Given the description of an element on the screen output the (x, y) to click on. 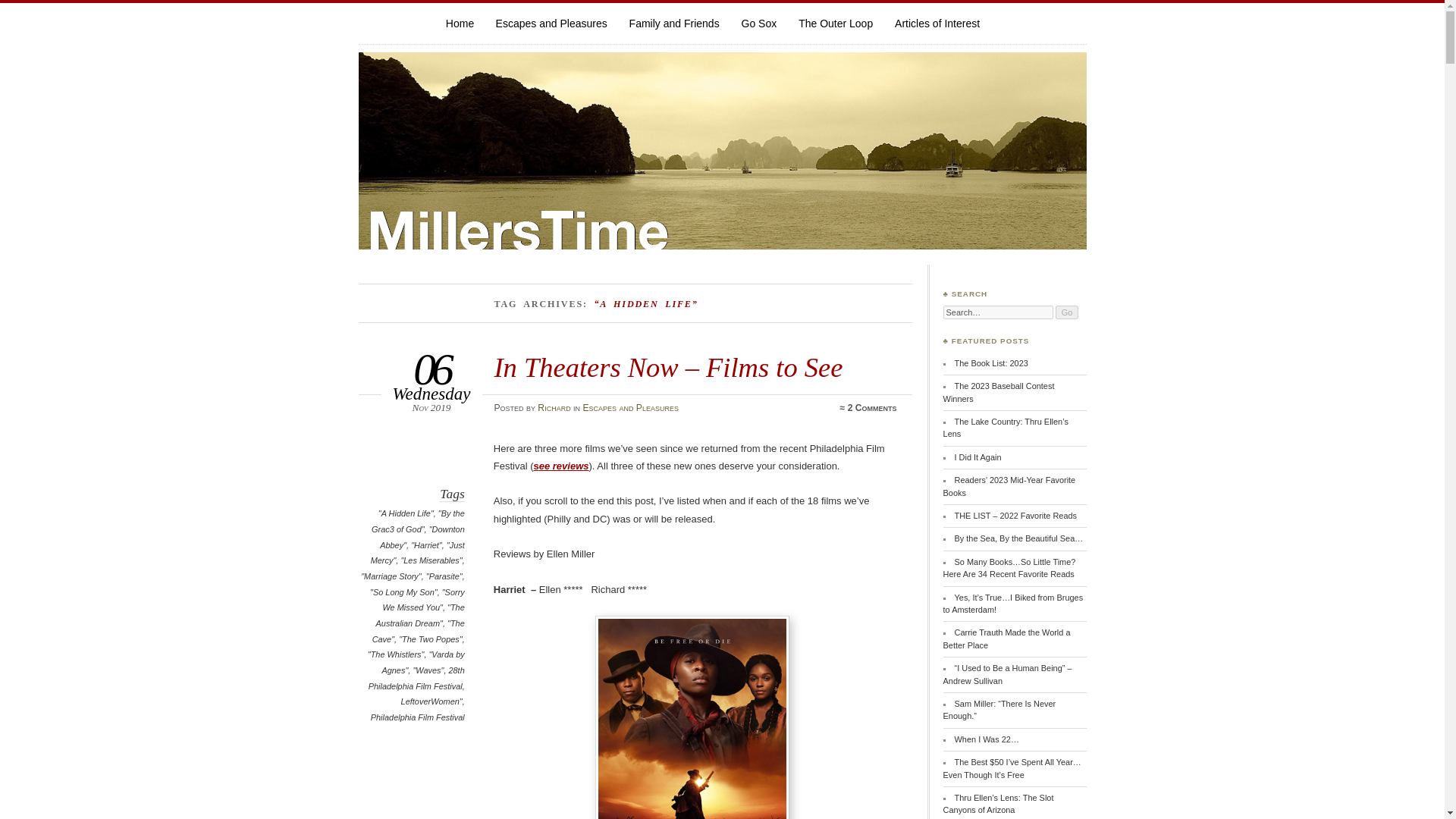
"The Cave" (418, 631)
"Parasite" (444, 575)
Articles of Interest (937, 23)
"Waves" (428, 669)
"Les Miserables" (430, 560)
Family and Friends (673, 23)
"The Whistlers" (396, 654)
"The Australian Dream" (419, 615)
"By the Grac3 of God" (417, 520)
"Harriet" (426, 544)
Home (459, 23)
"So Long My Son" (403, 592)
Philadelphia Film Festival (417, 716)
"Just Mercy" (417, 552)
